Given the description of an element on the screen output the (x, y) to click on. 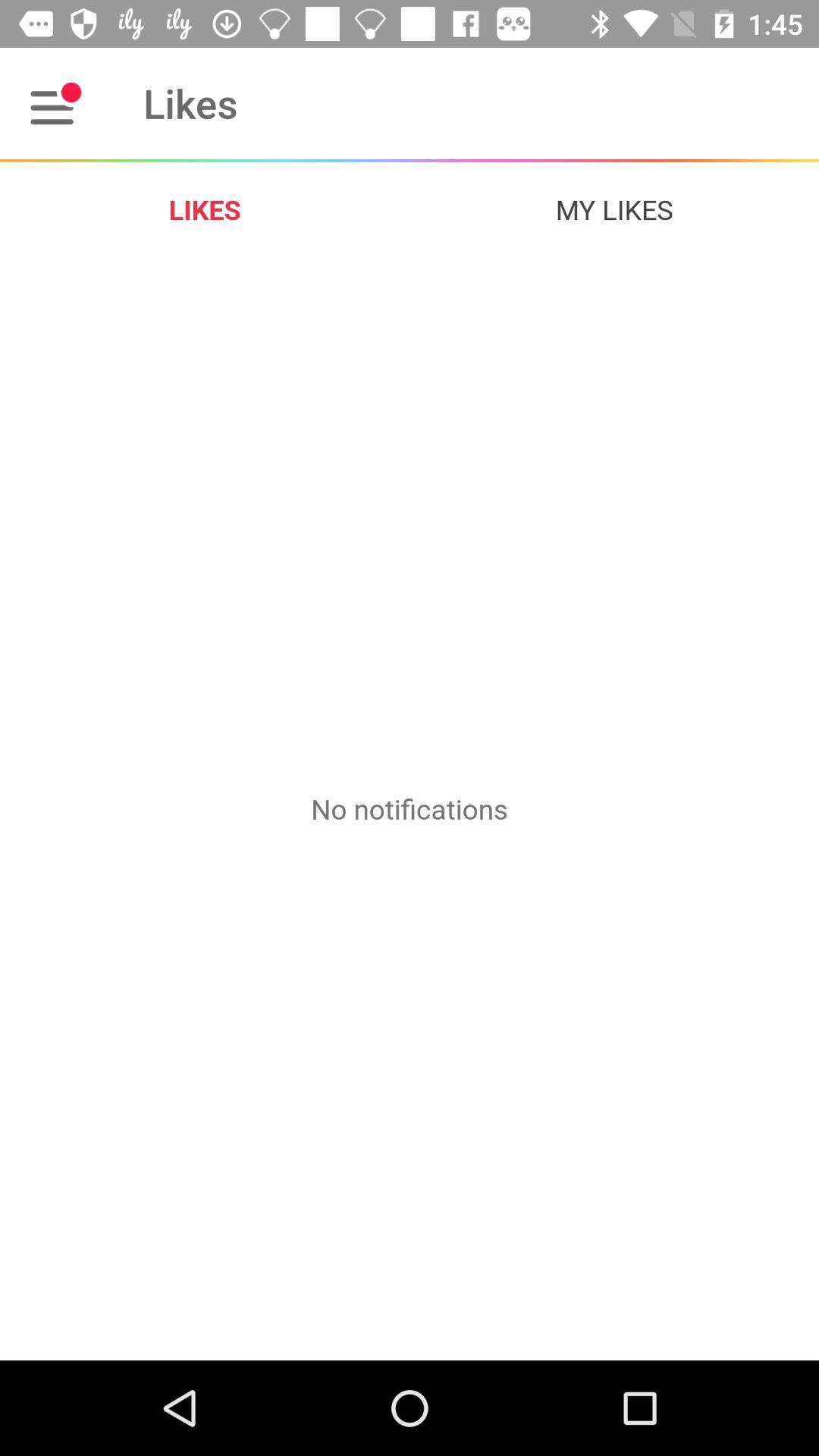
turn on my likes icon (614, 209)
